Given the description of an element on the screen output the (x, y) to click on. 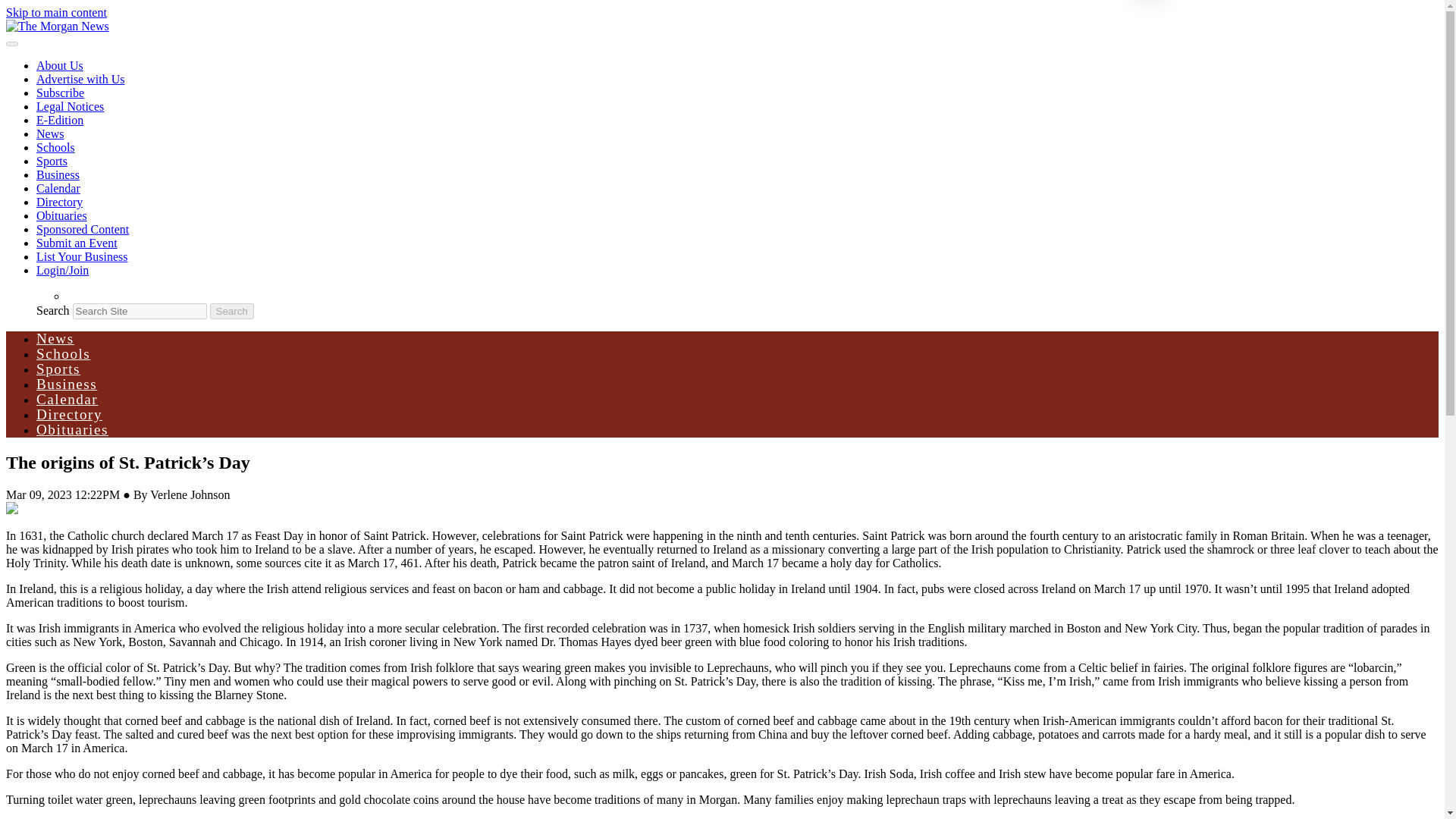
Obituaries (71, 429)
Sports (51, 160)
Business (66, 383)
Sports (58, 368)
Subscribe (60, 92)
About Us (59, 65)
Sponsored Content (82, 228)
E-Edition (59, 119)
Calendar (58, 187)
News (50, 133)
